Given the description of an element on the screen output the (x, y) to click on. 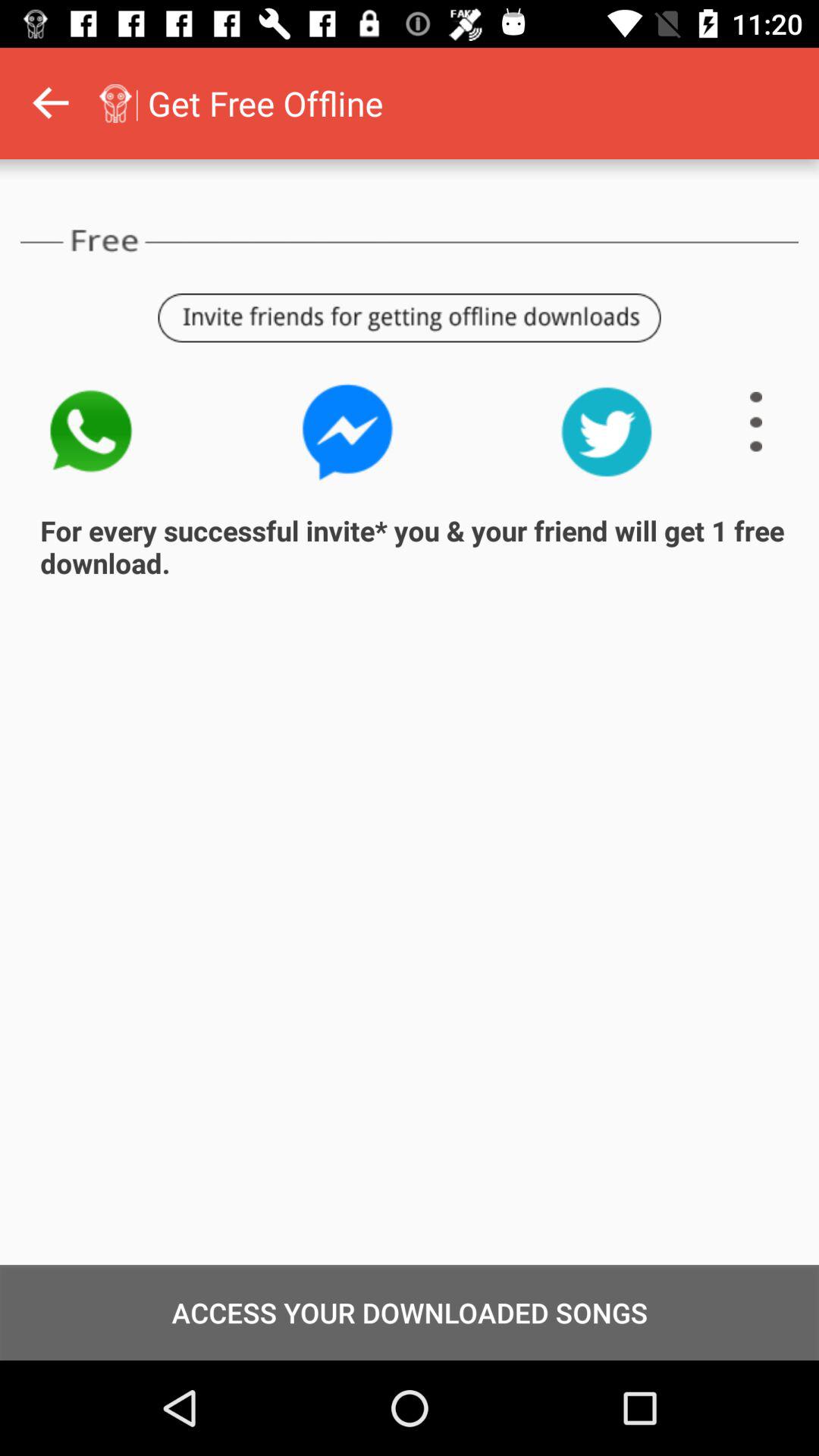
turn on the icon above for every successful (89, 431)
